Given the description of an element on the screen output the (x, y) to click on. 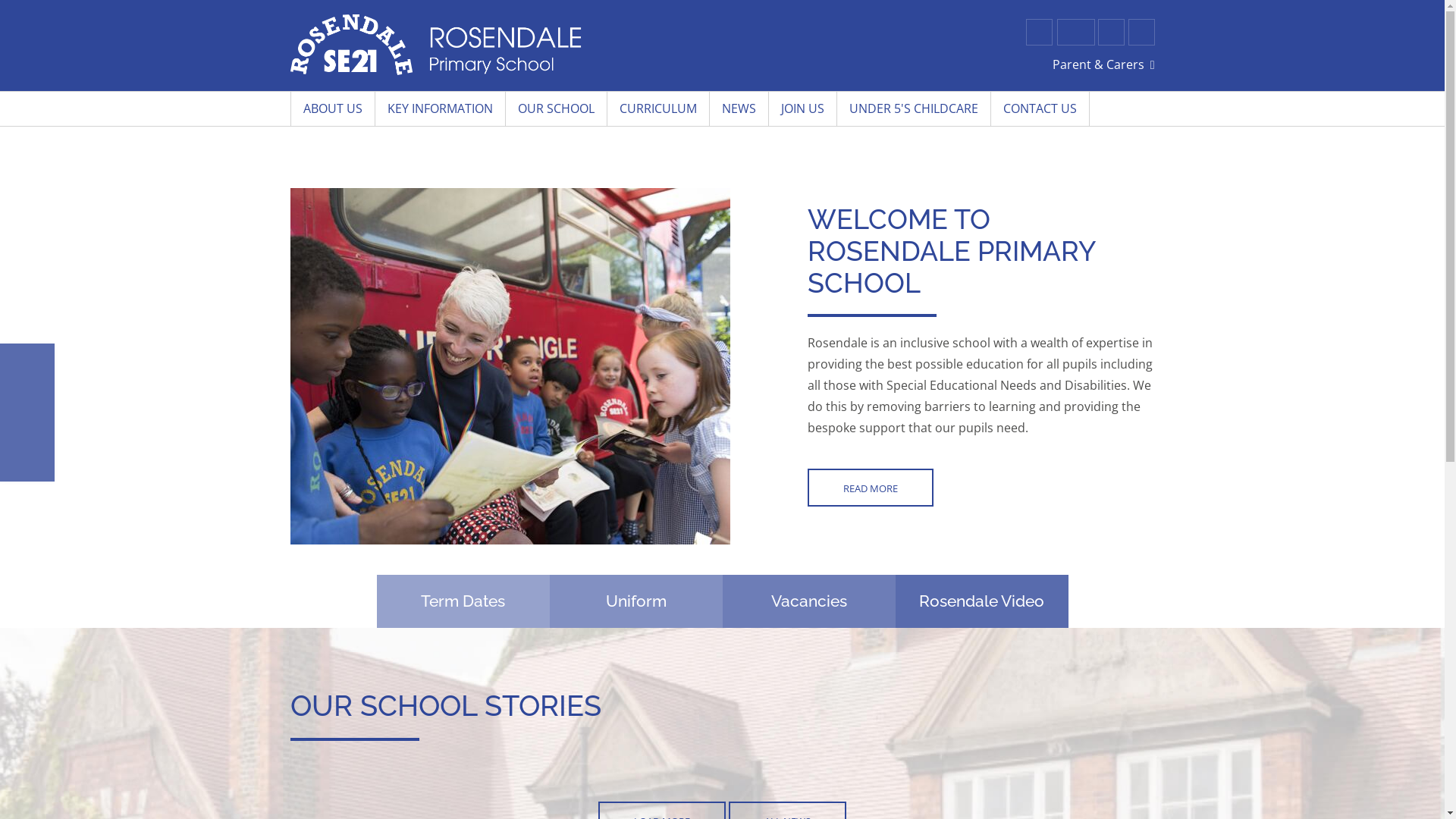
CONTACT US Element type: text (1039, 108)
OUR SCHOOL Element type: text (555, 108)
KEY INFORMATION Element type: text (439, 108)
JOIN US Element type: text (802, 108)
Uniform Element type: text (635, 600)
NEWS Element type: text (738, 108)
UNDER 5'S CHILDCARE Element type: text (914, 108)
Contact Us Element type: hover (1111, 31)
Vacancies Element type: text (807, 600)
CURRICULUM Element type: text (657, 108)
Term Dates Element type: text (462, 600)
Twitter Element type: hover (1038, 31)
READ MORE Element type: text (870, 487)
Rosendale Video Element type: text (980, 600)
ABOUT US Element type: text (331, 108)
Parent & Carers Element type: text (1103, 64)
Rosendale Primary School Element type: hover (435, 44)
